Given the description of an element on the screen output the (x, y) to click on. 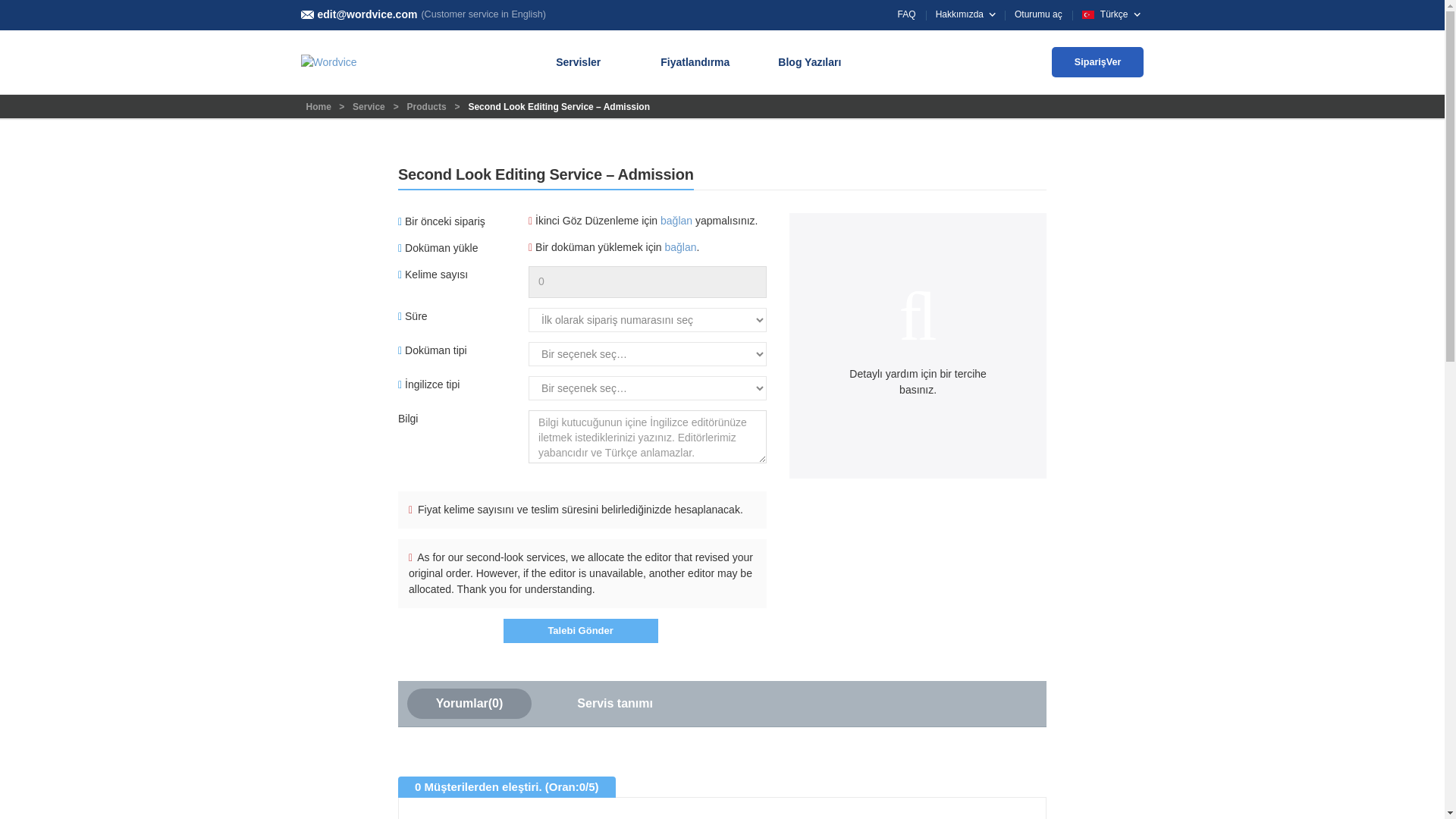
Service (368, 106)
Products (426, 106)
Servisler (583, 62)
Wordvice (319, 106)
FAQ (907, 14)
